Given the description of an element on the screen output the (x, y) to click on. 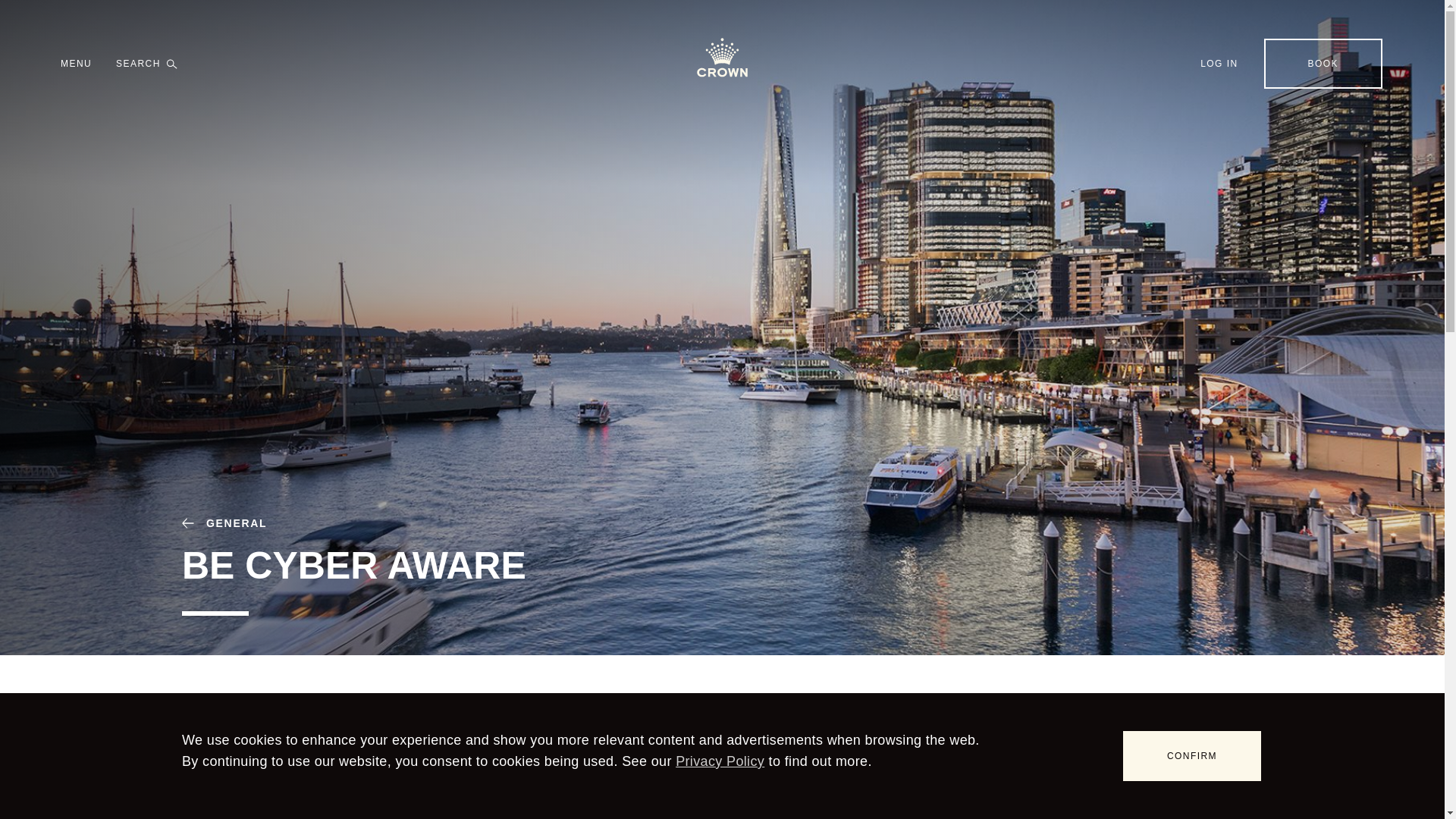
LOG IN (1218, 63)
MENU (76, 63)
BOOK (1322, 63)
SEARCH (146, 63)
